Given the description of an element on the screen output the (x, y) to click on. 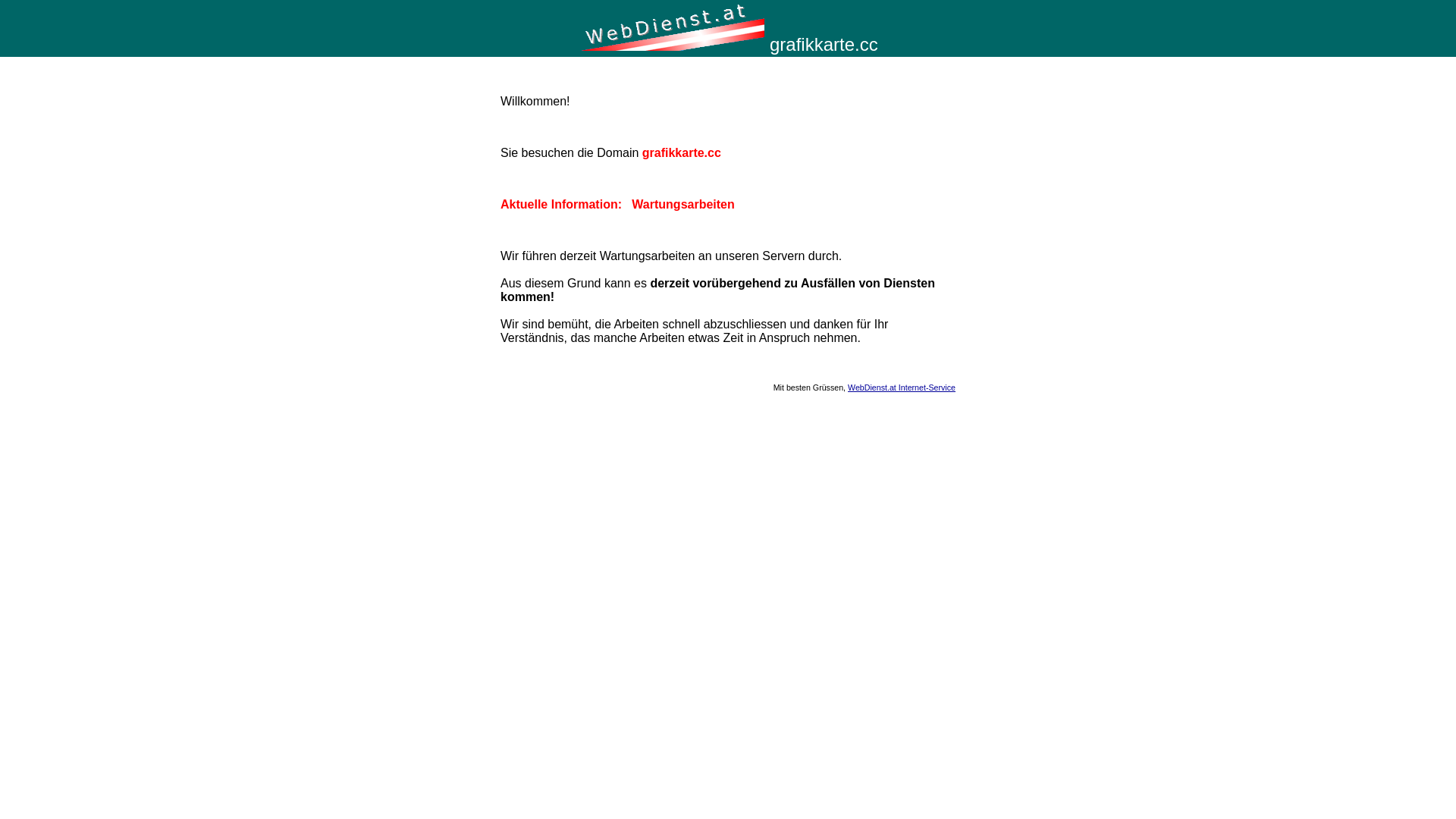
WebDienst.at Internet-Service Element type: text (901, 387)
